Given the description of an element on the screen output the (x, y) to click on. 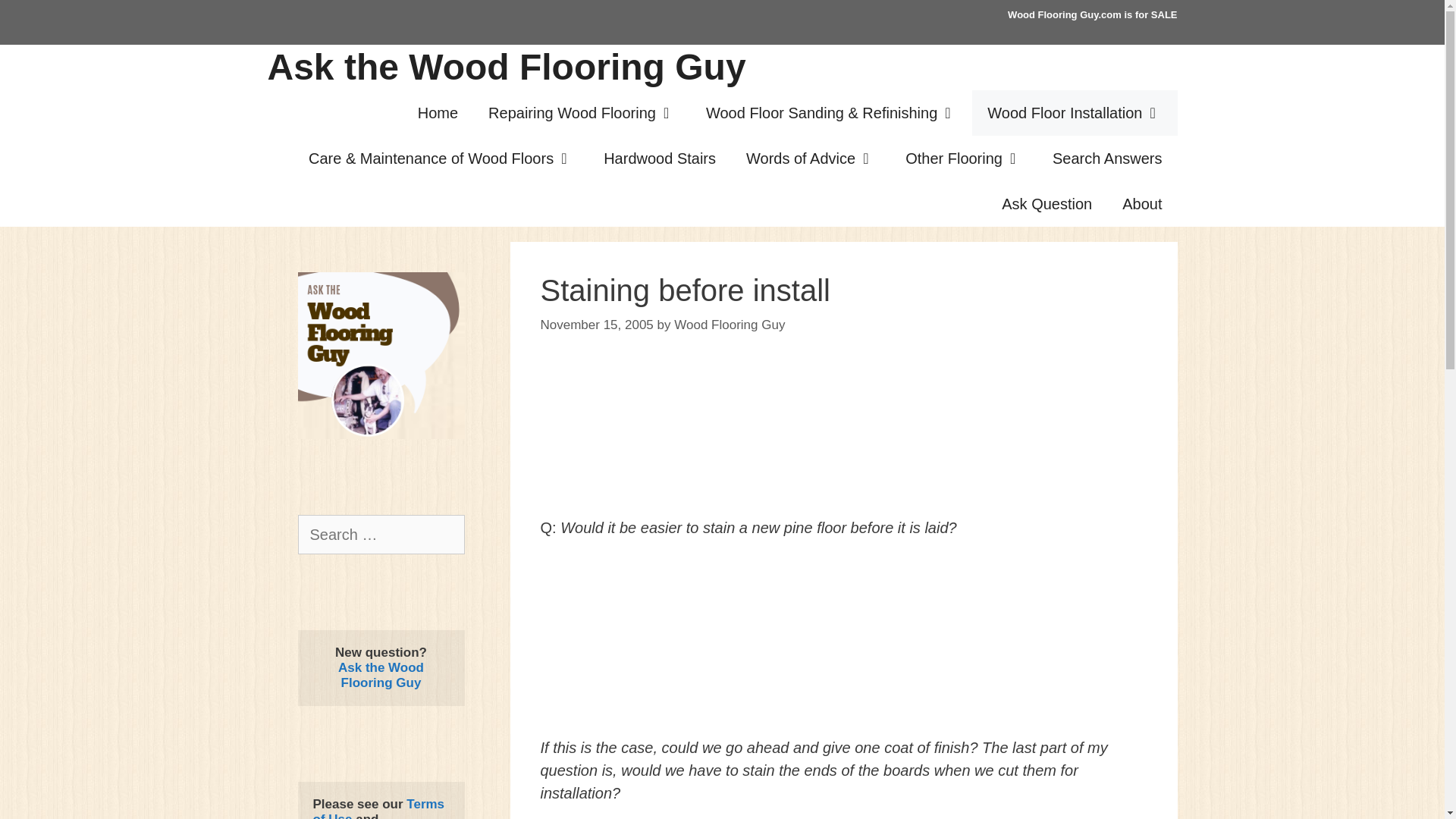
View all posts by Wood Flooring Guy (729, 323)
Advertisement (843, 440)
Advertisement (843, 637)
Search for: (380, 534)
Wood Flooring Guy.com is for SALE (1091, 14)
